Given the description of an element on the screen output the (x, y) to click on. 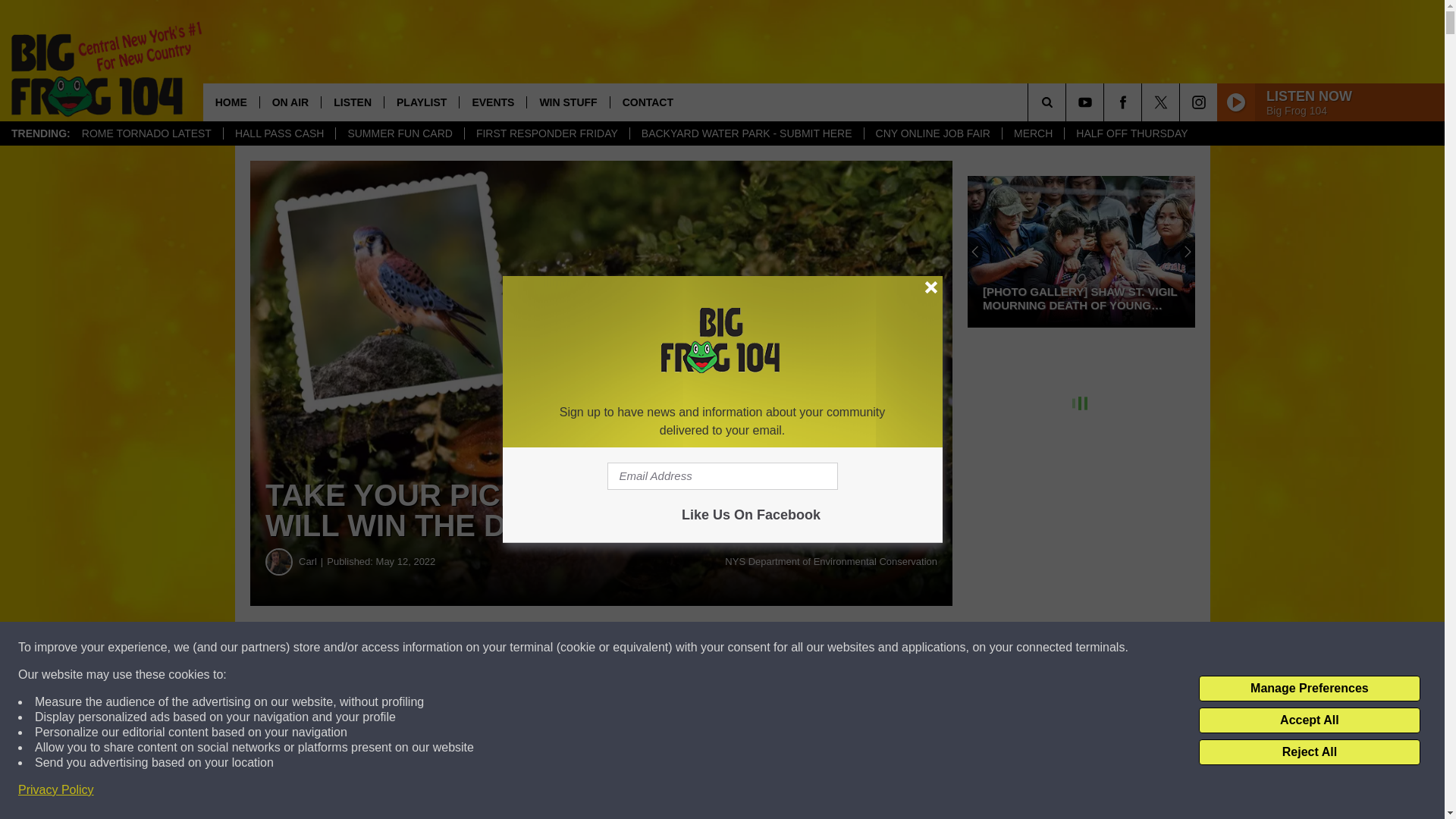
ROME TORNADO LATEST (145, 133)
CONTACT (647, 102)
SEARCH (1068, 102)
HALF OFF THURSDAY (1131, 133)
PLAYLIST (421, 102)
HALL PASS CASH (279, 133)
Share on Twitter (741, 647)
Accept All (1309, 720)
EVENTS (491, 102)
SEARCH (1068, 102)
Manage Preferences (1309, 688)
LISTEN (352, 102)
BACKYARD WATER PARK - SUBMIT HERE (745, 133)
MERCH (1032, 133)
Email Address (722, 475)
